Given the description of an element on the screen output the (x, y) to click on. 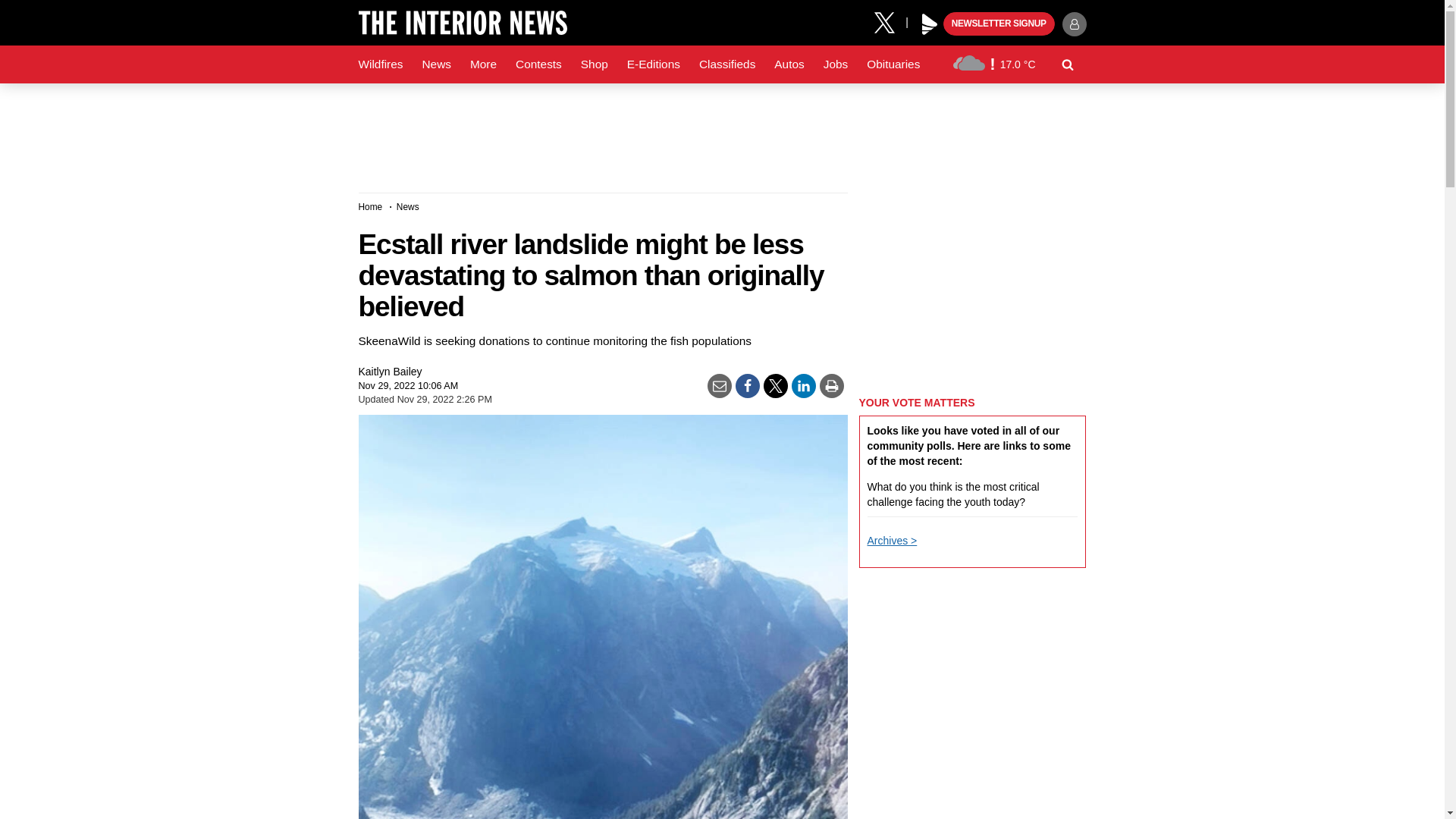
X (889, 21)
NEWSLETTER SIGNUP (998, 24)
Wildfires (380, 64)
News (435, 64)
Black Press Media (929, 24)
Play (929, 24)
